Given the description of an element on the screen output the (x, y) to click on. 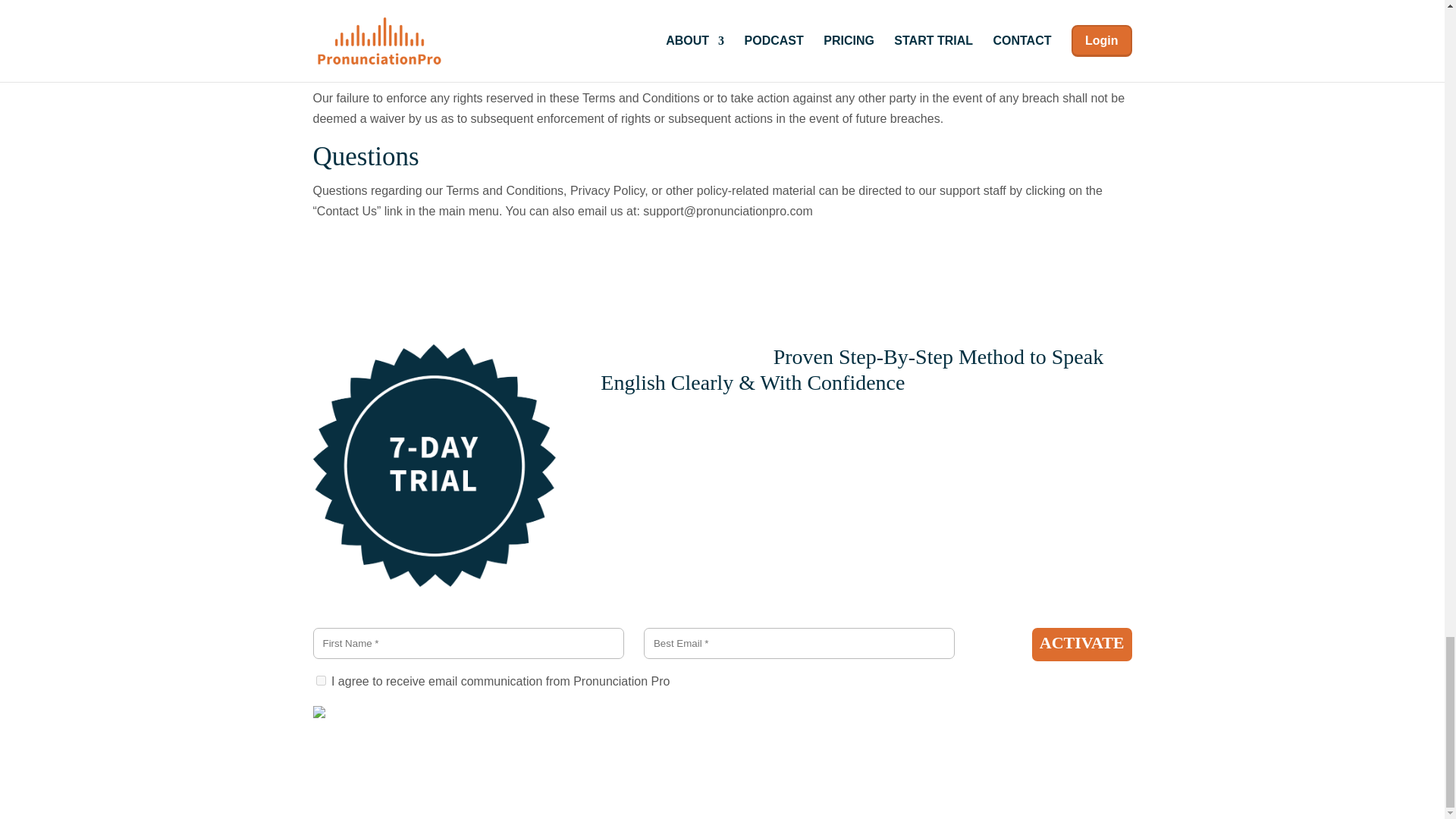
1504 (319, 680)
ACTIVATE (1082, 644)
Asset 22 (433, 465)
